Given the description of an element on the screen output the (x, y) to click on. 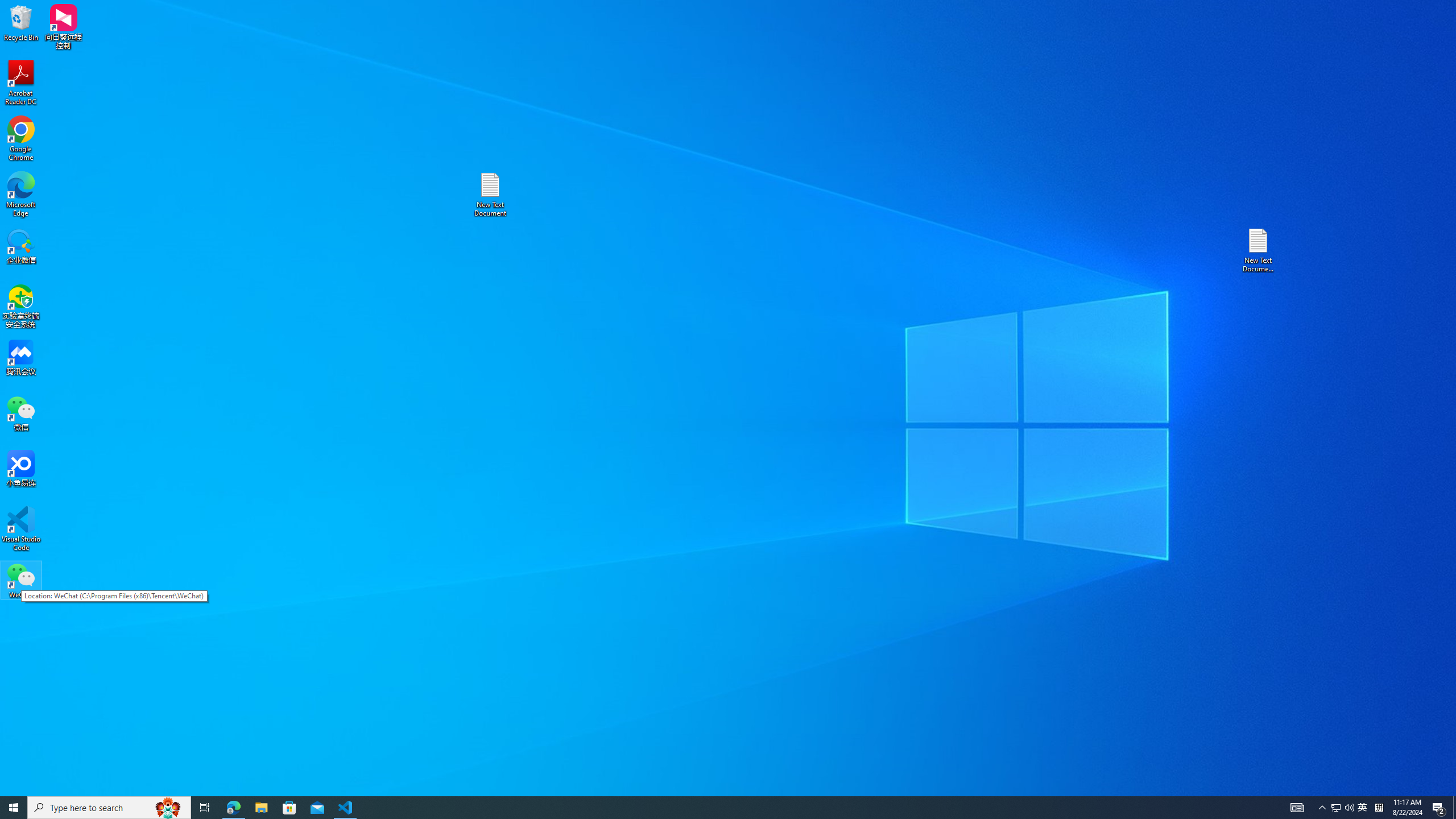
User Promoted Notification Area (1342, 807)
Show desktop (1454, 807)
Microsoft Edge - 1 running window (233, 807)
Visual Studio Code - 1 running window (345, 807)
Type here to search (108, 807)
Running applications (707, 807)
Recycle Bin (21, 22)
Task View (204, 807)
Start (13, 807)
New Text Document (2) (1362, 807)
